Given the description of an element on the screen output the (x, y) to click on. 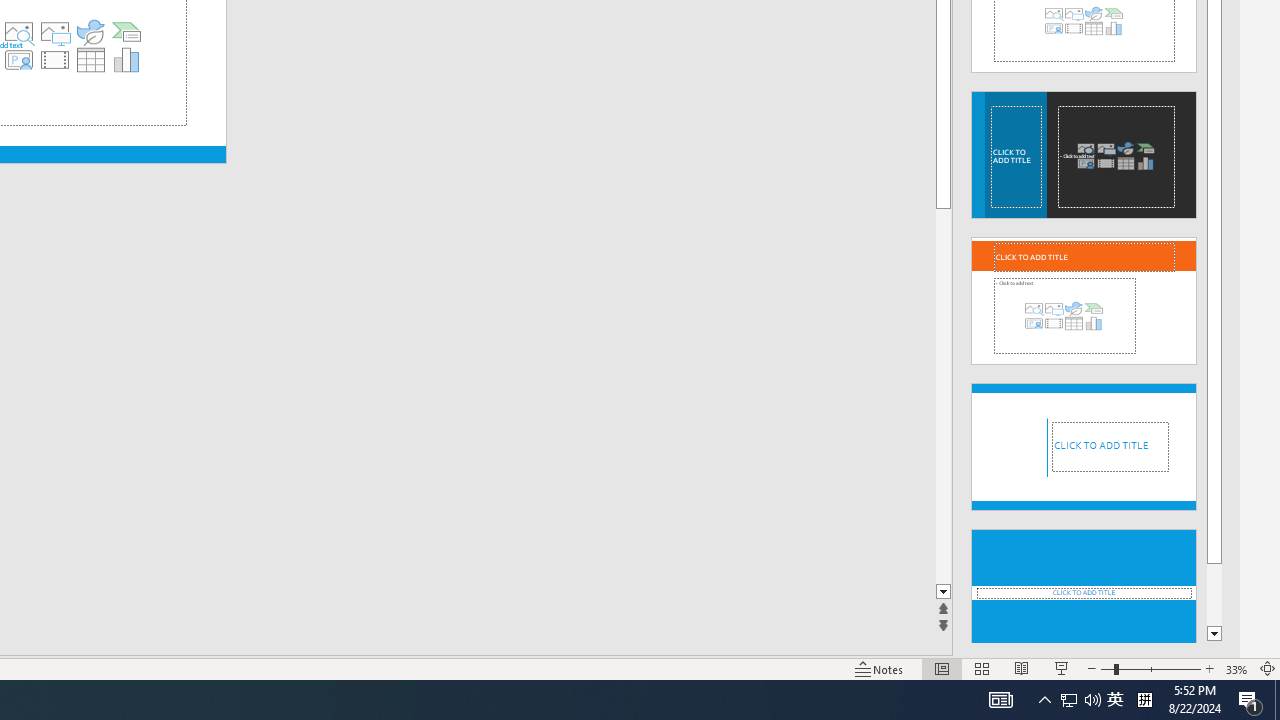
Zoom 33% (1236, 668)
